Given the description of an element on the screen output the (x, y) to click on. 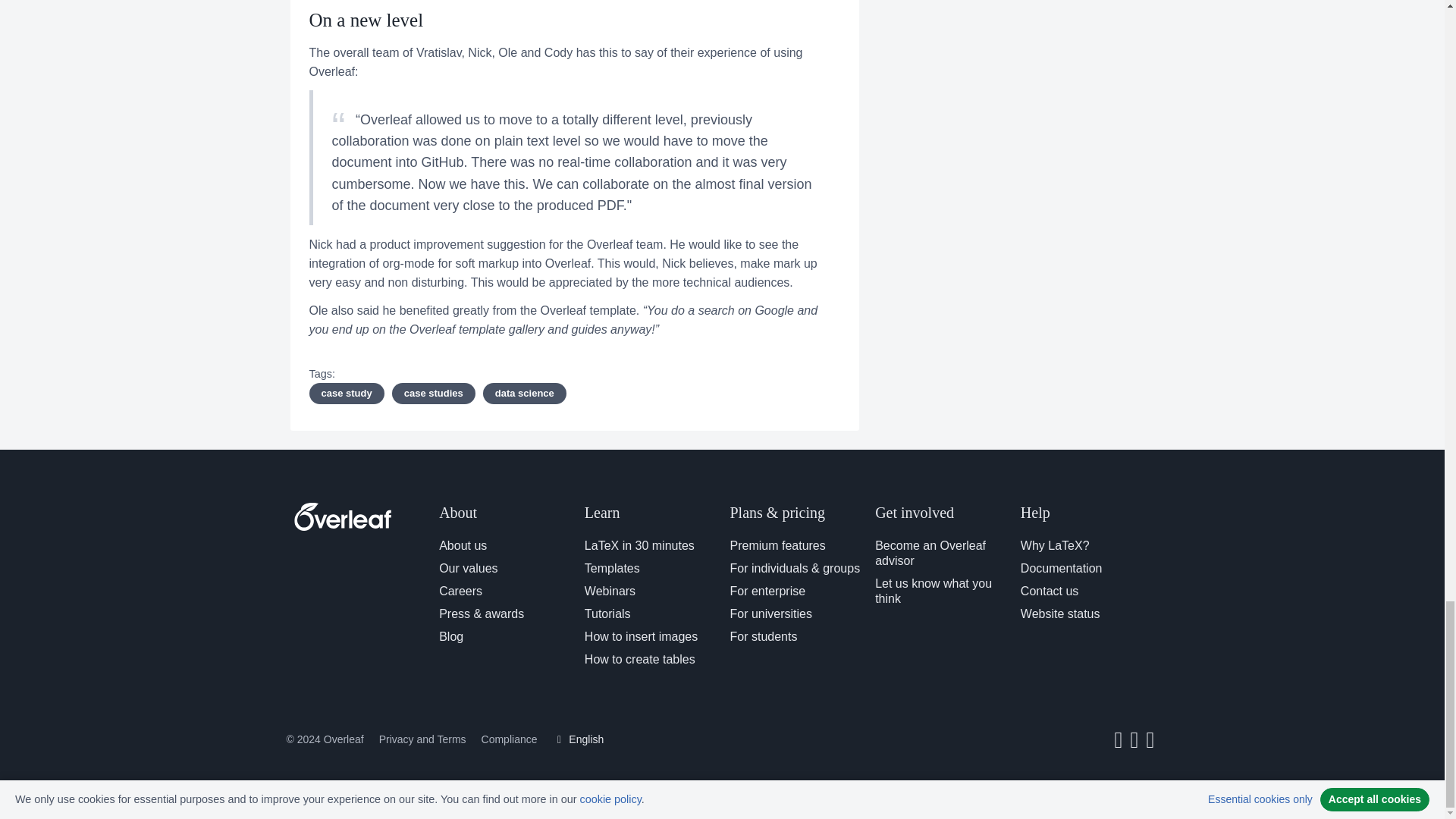
data science (524, 393)
case study (346, 393)
case studies (433, 393)
